Given the description of an element on the screen output the (x, y) to click on. 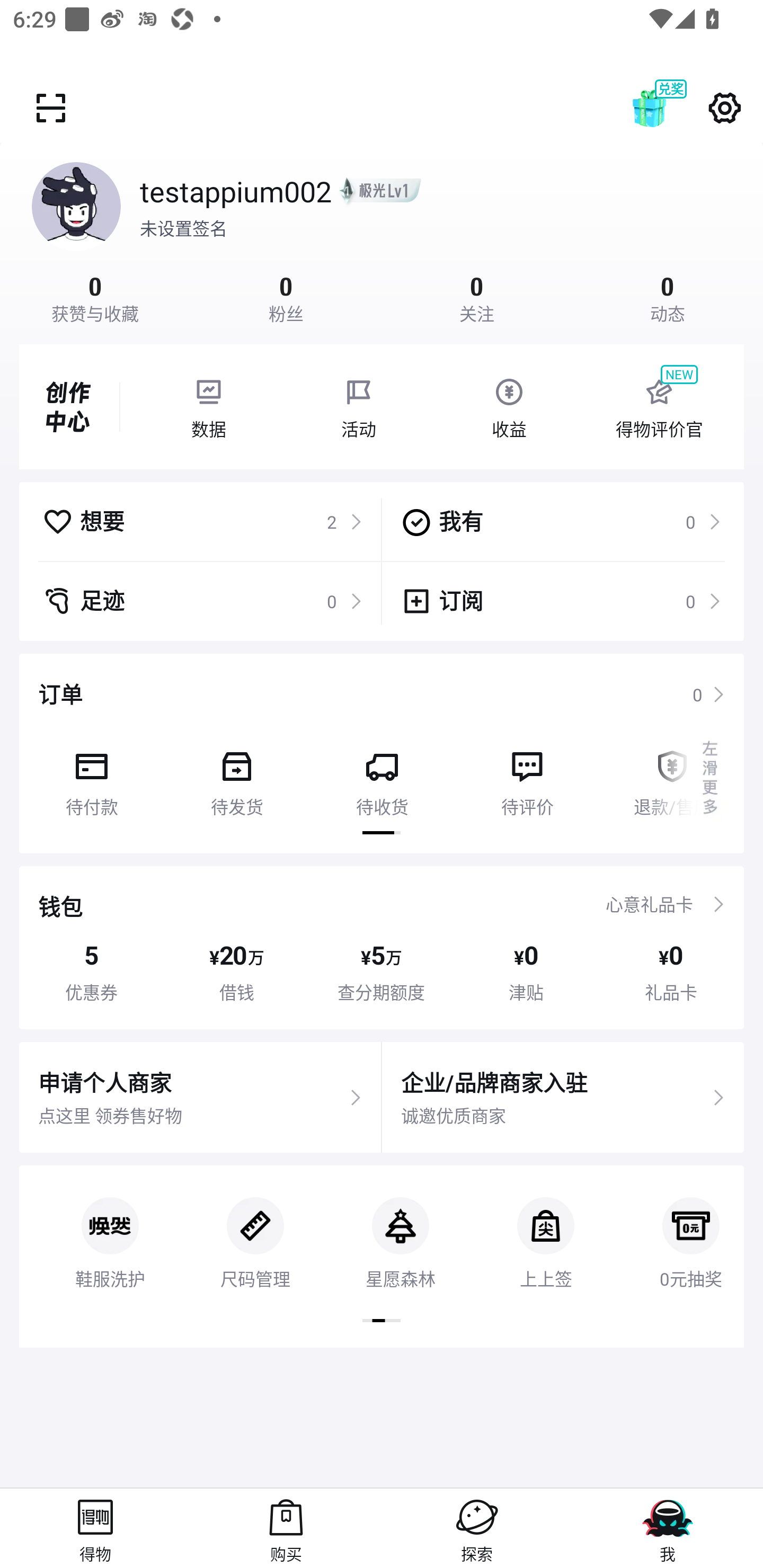
兑奖 (667, 107)
testappium002 未设置签名 0 获赞与收藏 0 粉丝 0 关注 0 动态 (381, 233)
0 获赞与收藏 (95, 296)
0 粉丝 (285, 296)
0 关注 (476, 296)
0 动态 (667, 296)
数据 (208, 406)
活动 (358, 406)
收益 (508, 406)
NEW 得物评价官 (658, 406)
想要 2 (201, 521)
我有 0 (560, 521)
足迹 0 (201, 601)
订阅 0 (560, 601)
订单 0 待付款 待发货 待收货 待评价 退款/售后 (381, 752)
待付款 (91, 776)
待发货 (236, 776)
待收货 (381, 776)
待评价 (526, 776)
退款/售后 (671, 776)
心意礼品卡 (648, 903)
5 优惠券 (91, 971)
¥ 20 万 借钱 (236, 971)
¥ 5 万 查分期额度 (381, 971)
¥ 0 津贴 (525, 971)
¥ 0 礼品卡 (670, 971)
申请个人商家 点这里 领券售好物 (199, 1097)
企业/品牌商家入驻 诚邀优质商家 (562, 1097)
鞋服洗护 (110, 1227)
尺码管理 (255, 1227)
星愿森林 (400, 1227)
上上签 (545, 1227)
0元抽奖 (680, 1227)
得物 (95, 1528)
购买 (285, 1528)
探索 (476, 1528)
我 (667, 1528)
